Given the description of an element on the screen output the (x, y) to click on. 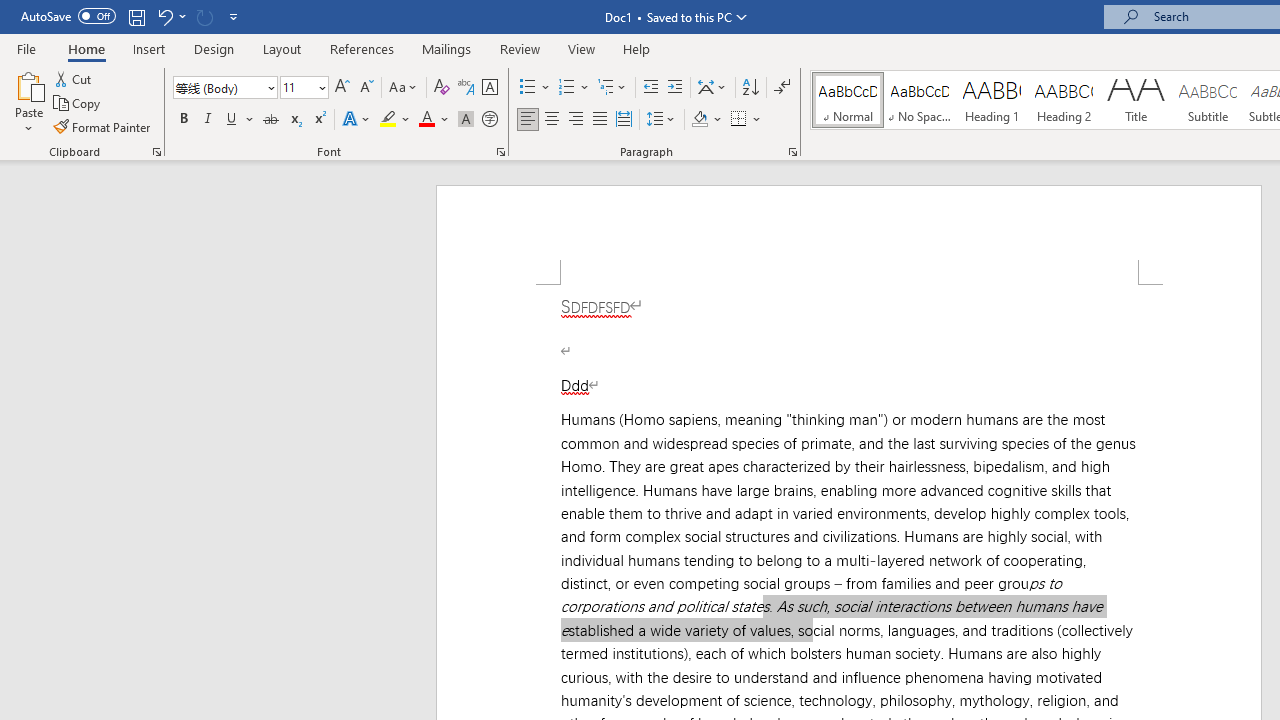
Bullets (535, 87)
Character Border (489, 87)
Show/Hide Editing Marks (781, 87)
More Options (757, 119)
Superscript (319, 119)
Open (320, 87)
Copy (78, 103)
Subscript (294, 119)
Borders (739, 119)
AutoSave (68, 16)
Undo Apply Quick Style Set (164, 15)
Heading 1 (991, 100)
Font... (500, 151)
Numbering (566, 87)
View (582, 48)
